Given the description of an element on the screen output the (x, y) to click on. 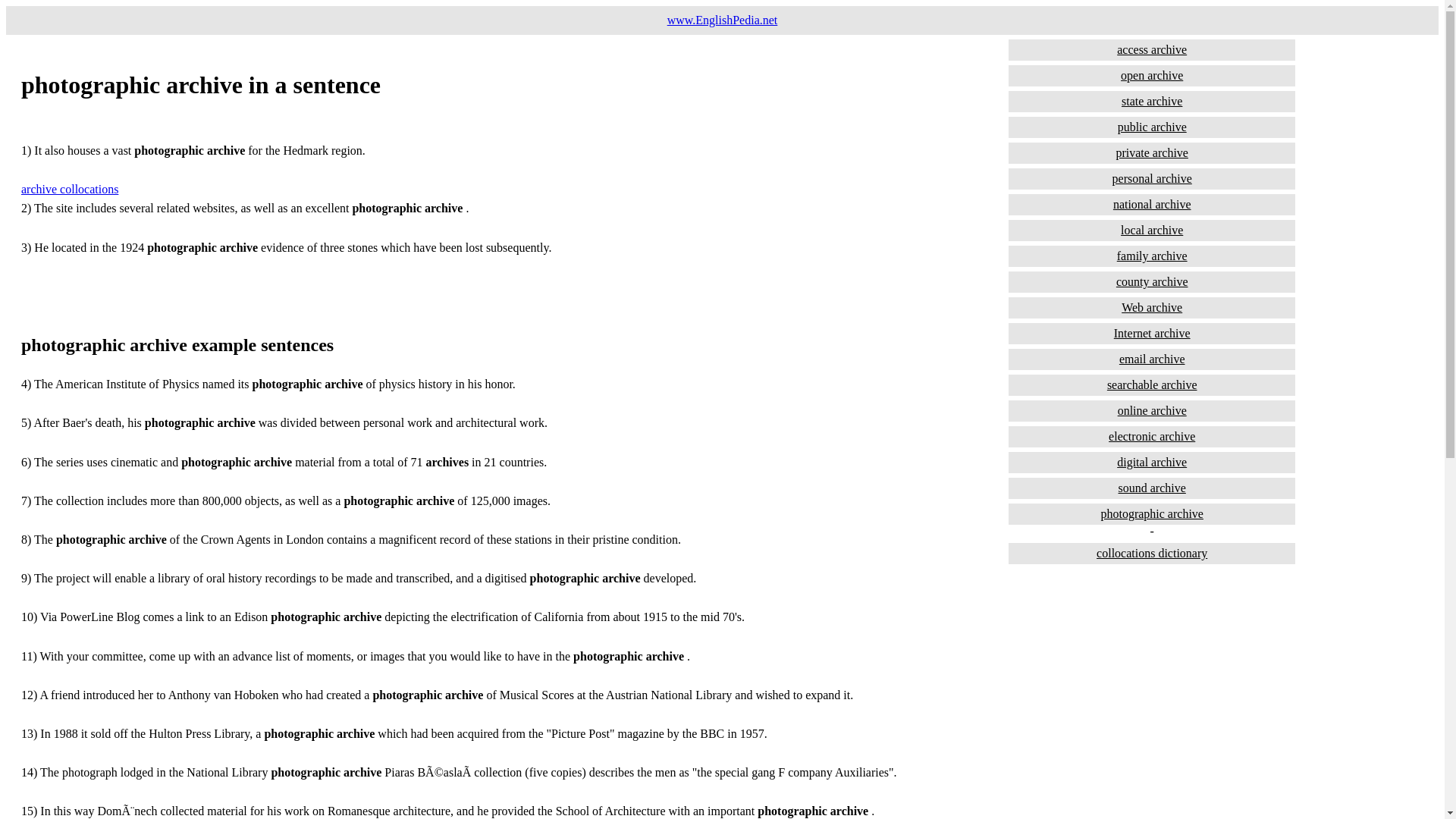
electronic archive (1152, 436)
Internet archive in a sentence (1152, 332)
electronic archive in a sentence (1152, 436)
digital archive in a sentence (1152, 462)
searchable archive in a sentence (1152, 384)
state archive (1152, 101)
family archive in a sentence (1152, 255)
sound archive (1152, 487)
photographic archive in a sentence (1152, 513)
local archive (1152, 230)
